Given the description of an element on the screen output the (x, y) to click on. 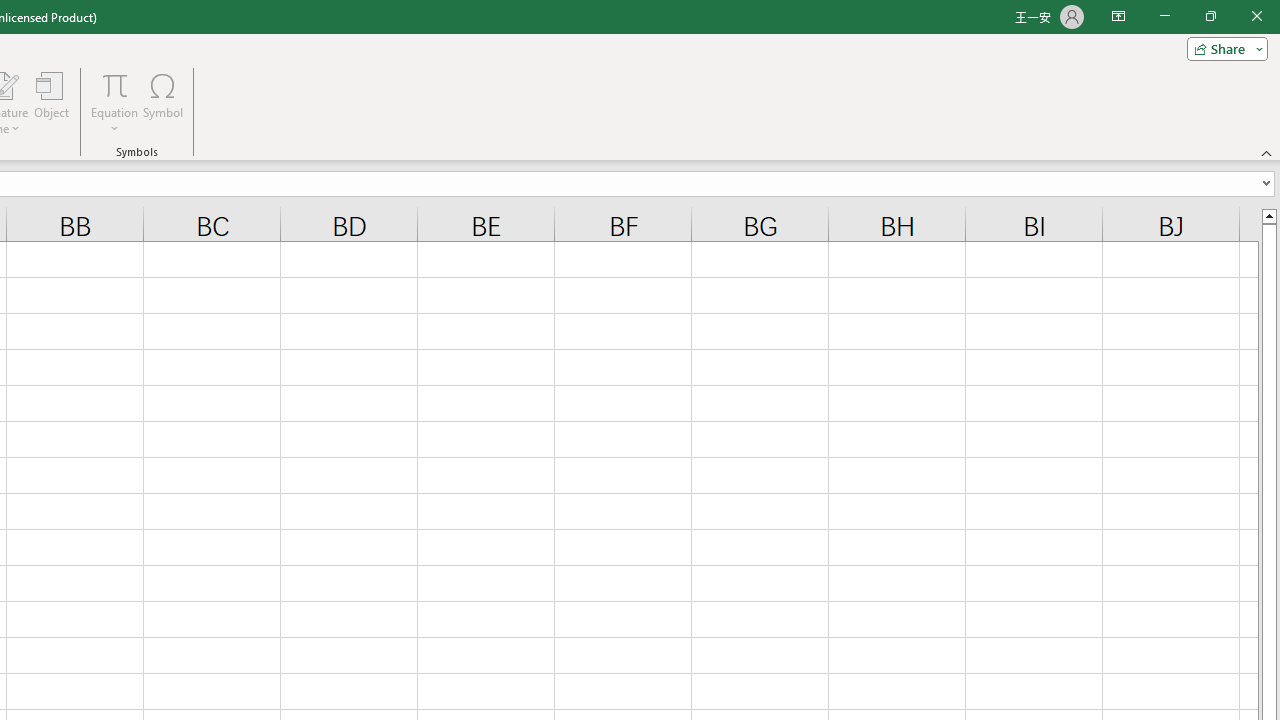
Restore Down (1210, 16)
Line up (1268, 215)
Equation (114, 84)
Object... (51, 102)
Ribbon Display Options (1118, 16)
Collapse the Ribbon (1267, 152)
Symbol... (162, 102)
Equation (114, 102)
